Given the description of an element on the screen output the (x, y) to click on. 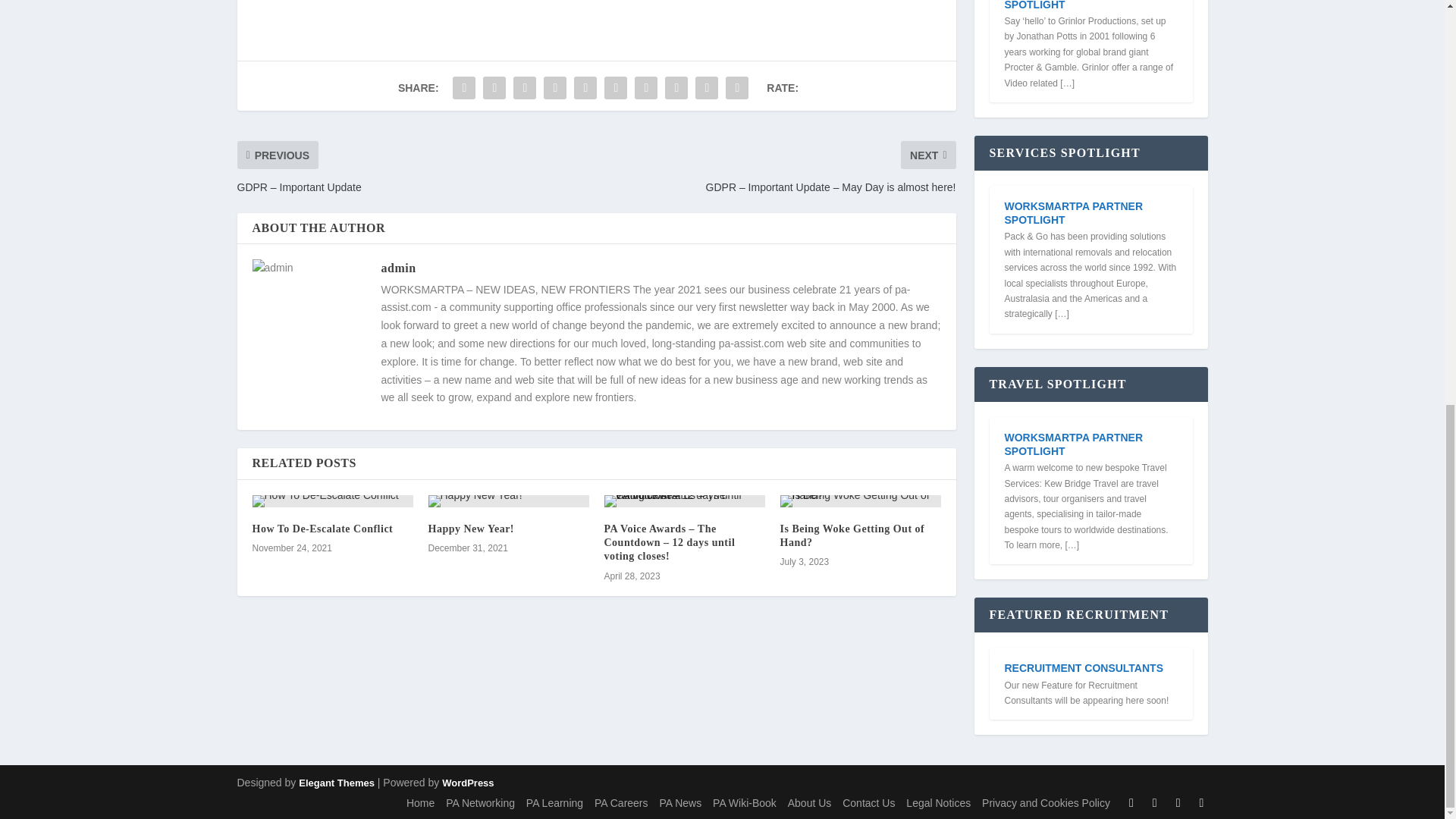
How To De-Escalate Conflict (322, 528)
Is Being Woke Getting Out of Hand? (851, 535)
WORKSMARTPA PARTNER SPOTLIGHT (1090, 6)
admin (397, 267)
Happy New Year! (470, 528)
